Given the description of an element on the screen output the (x, y) to click on. 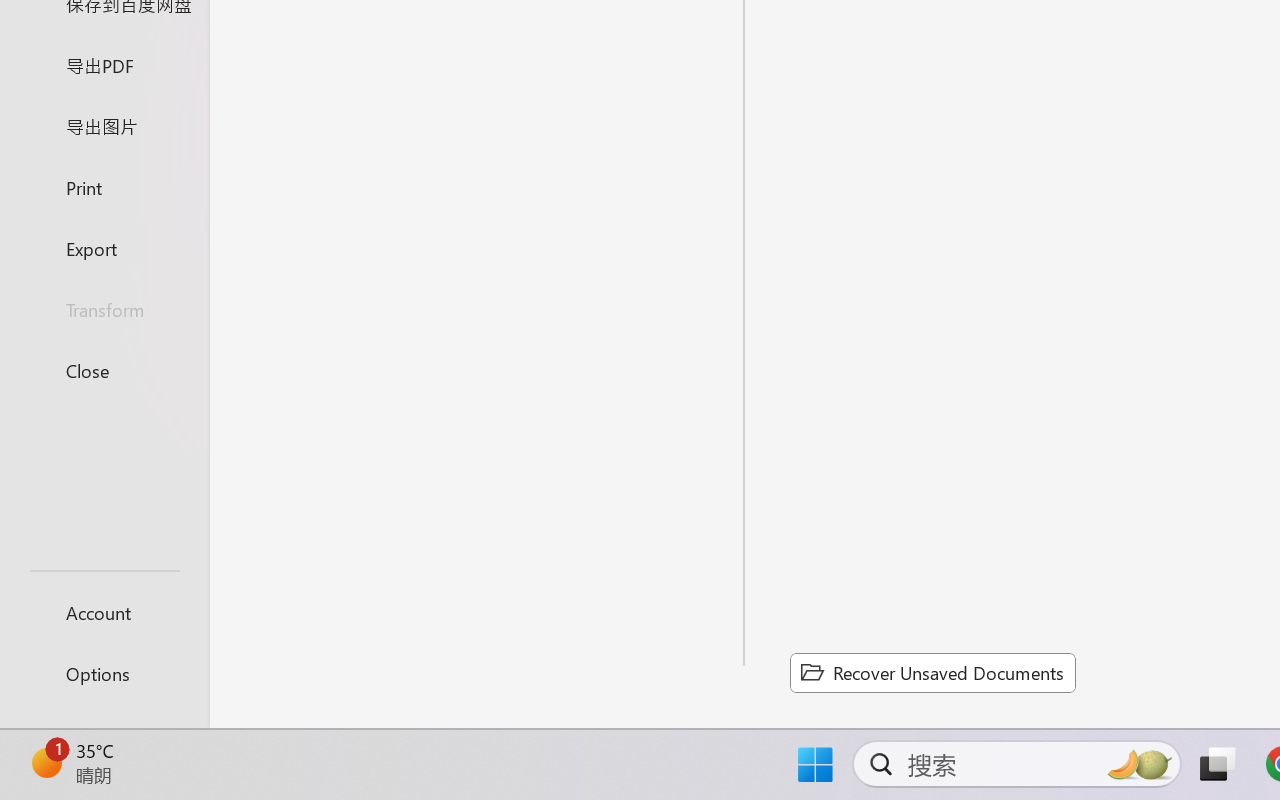
Export (104, 248)
Recover Unsaved Documents (932, 672)
Account (104, 612)
Options (104, 673)
Print (104, 186)
Transform (104, 309)
